Given the description of an element on the screen output the (x, y) to click on. 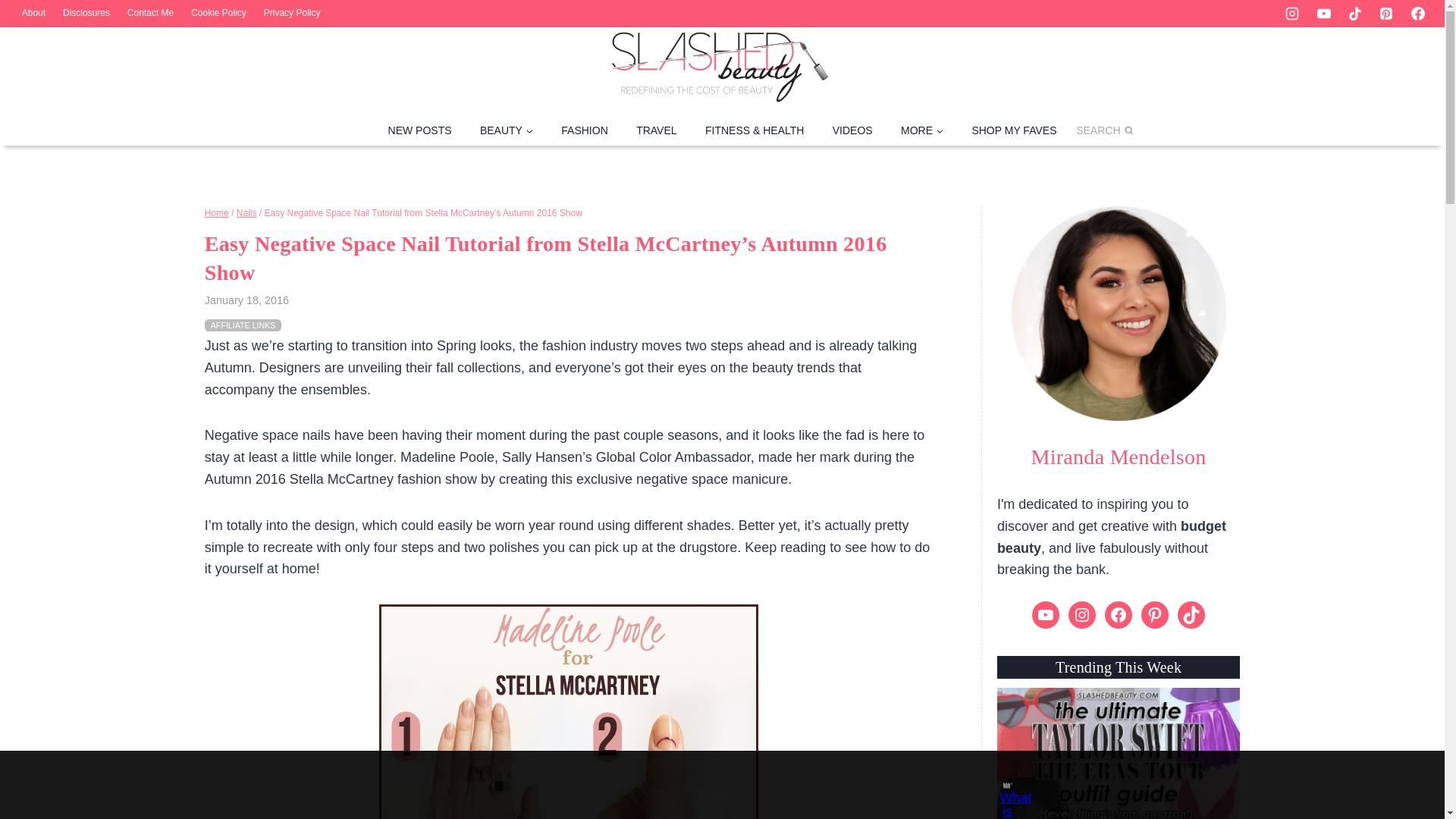
FASHION (585, 129)
MORE (921, 129)
Contact Me (149, 13)
Cookie Policy (219, 13)
SHOP MY FAVES (1014, 129)
AFFILIATE LINKS (243, 325)
SEARCH (1104, 130)
Home (216, 213)
BEAUTY (506, 129)
About (33, 13)
NEW POSTS (419, 129)
Privacy Policy (291, 13)
TRAVEL (655, 129)
Disclosures (87, 13)
Nails (246, 213)
